Given the description of an element on the screen output the (x, y) to click on. 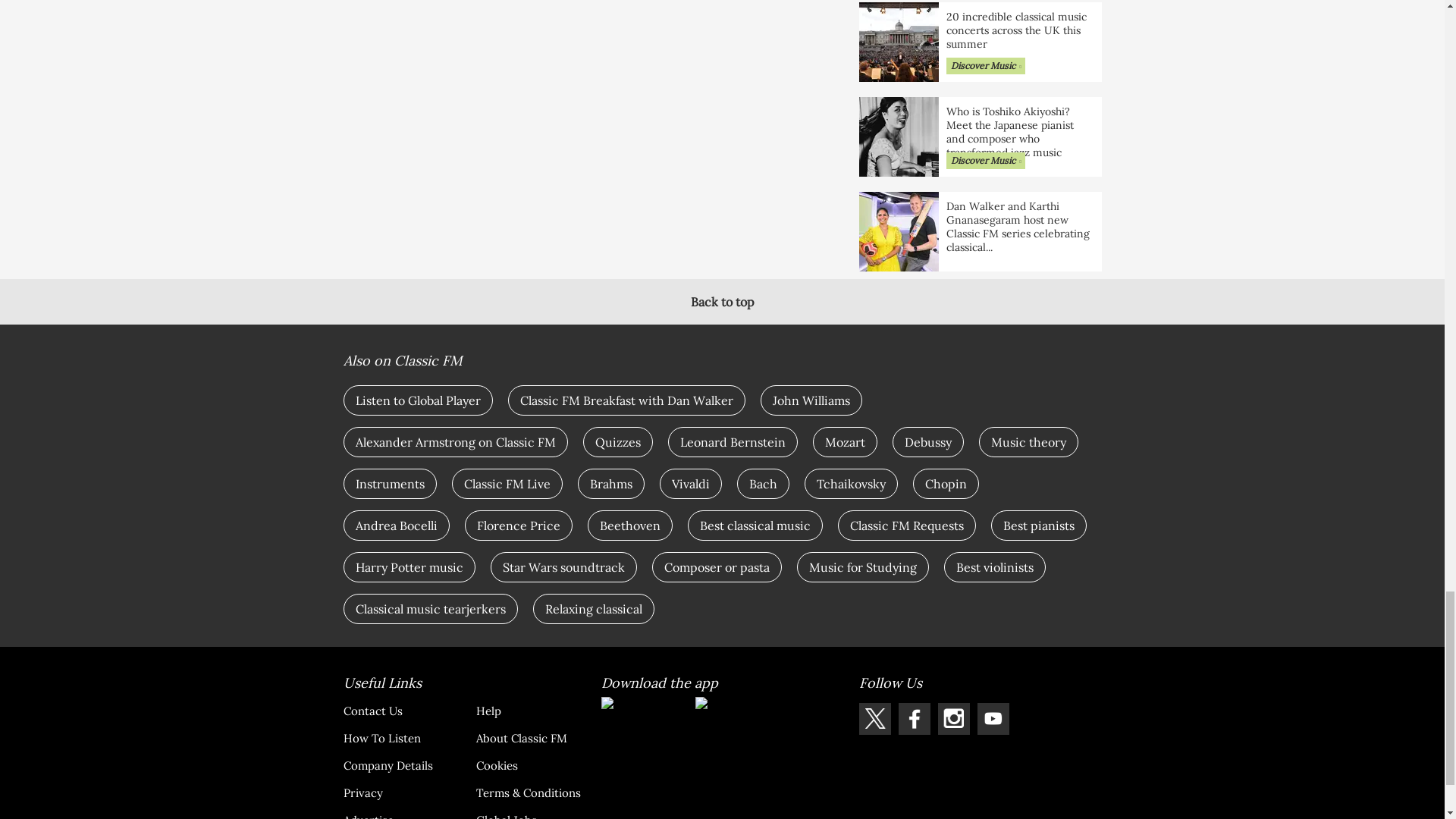
Follow Classic FM on Facebook (914, 718)
Follow Classic FM on Instagram (953, 718)
Back to top (722, 301)
Follow Classic FM on X (874, 718)
Follow Classic FM on Youtube (992, 718)
